Given the description of an element on the screen output the (x, y) to click on. 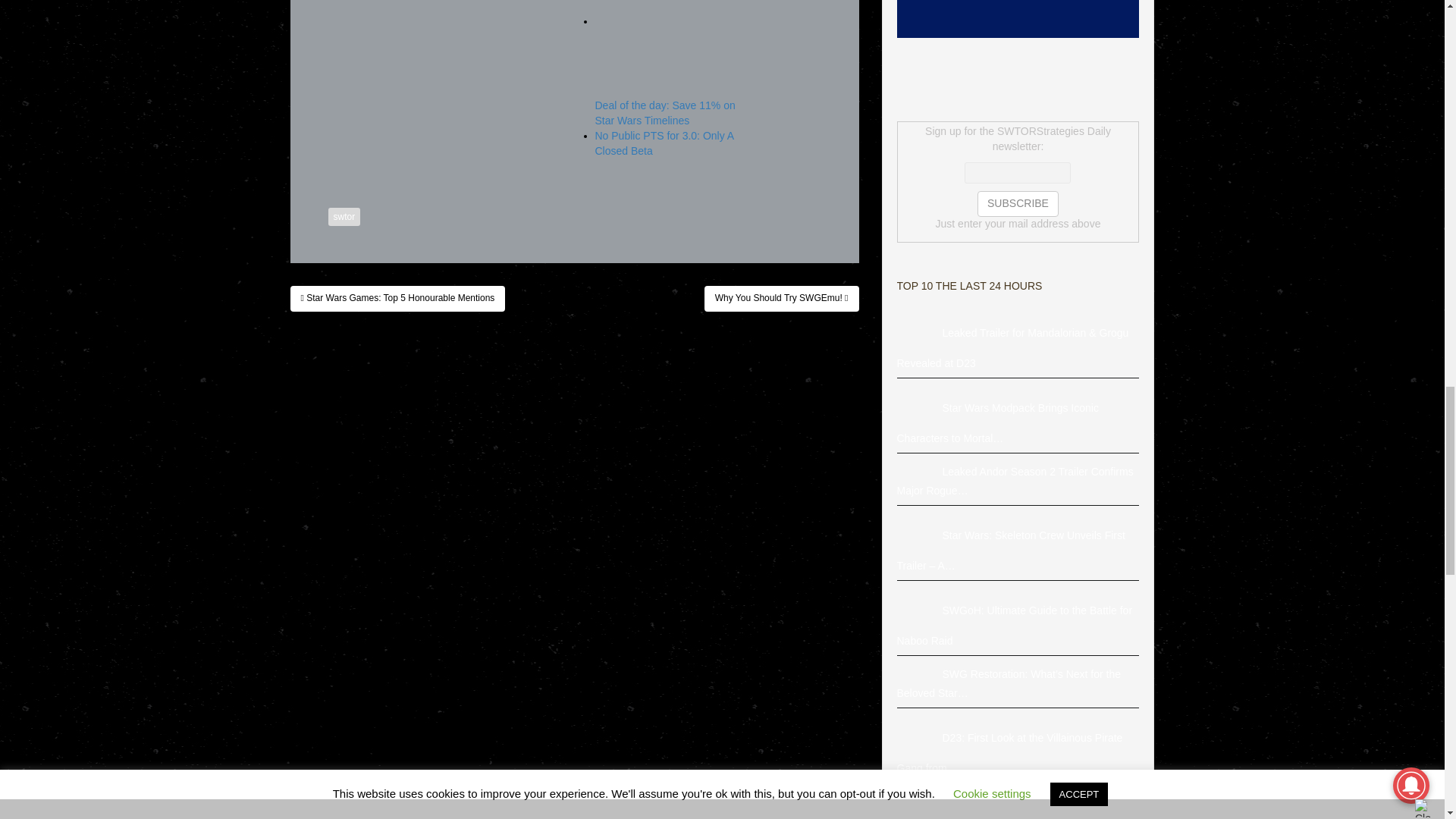
SWGoH: Ultimate Guide to the Battle for Naboo Raid (919, 610)
Subscribe (1017, 203)
